Given the description of an element on the screen output the (x, y) to click on. 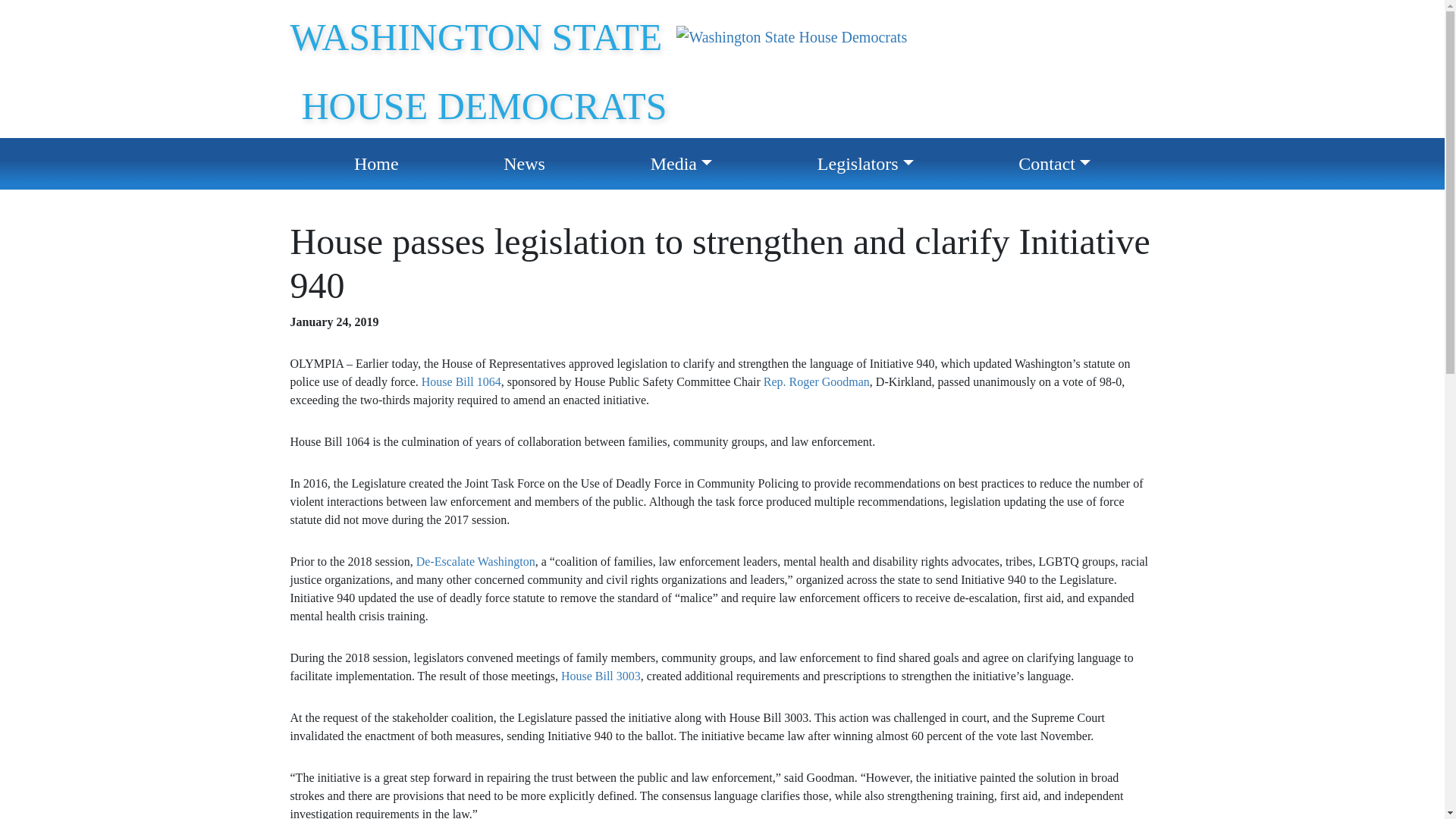
House Bill 3003 (600, 675)
Legislators (865, 163)
Media (680, 163)
Contact (1054, 163)
Home (376, 163)
Facebook (1323, 15)
News (523, 163)
News (523, 163)
Instagram (1424, 15)
YouTube (1357, 15)
